Given the description of an element on the screen output the (x, y) to click on. 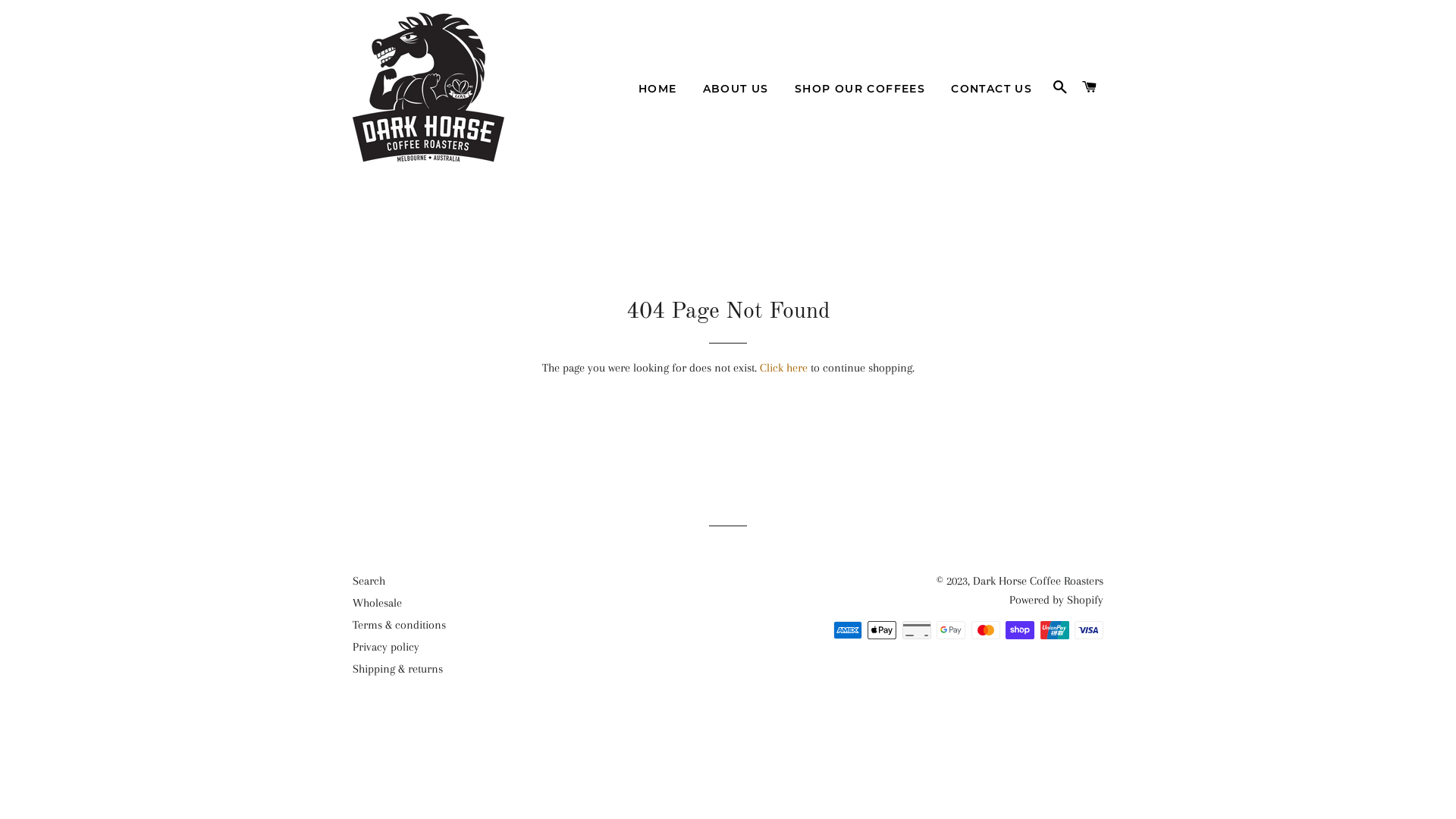
Dark Horse Coffee Roasters Element type: text (1037, 580)
CONTACT US Element type: text (991, 89)
SEARCH Element type: text (1059, 86)
HOME Element type: text (657, 89)
Search Element type: text (368, 580)
Privacy policy Element type: text (385, 646)
Wholesale Element type: text (376, 602)
SHOP OUR COFFEES Element type: text (859, 89)
CART Element type: text (1089, 86)
Terms & conditions Element type: text (398, 624)
Click here Element type: text (783, 367)
Powered by Shopify Element type: text (1056, 599)
ABOUT US Element type: text (735, 89)
Shipping & returns Element type: text (397, 668)
